Given the description of an element on the screen output the (x, y) to click on. 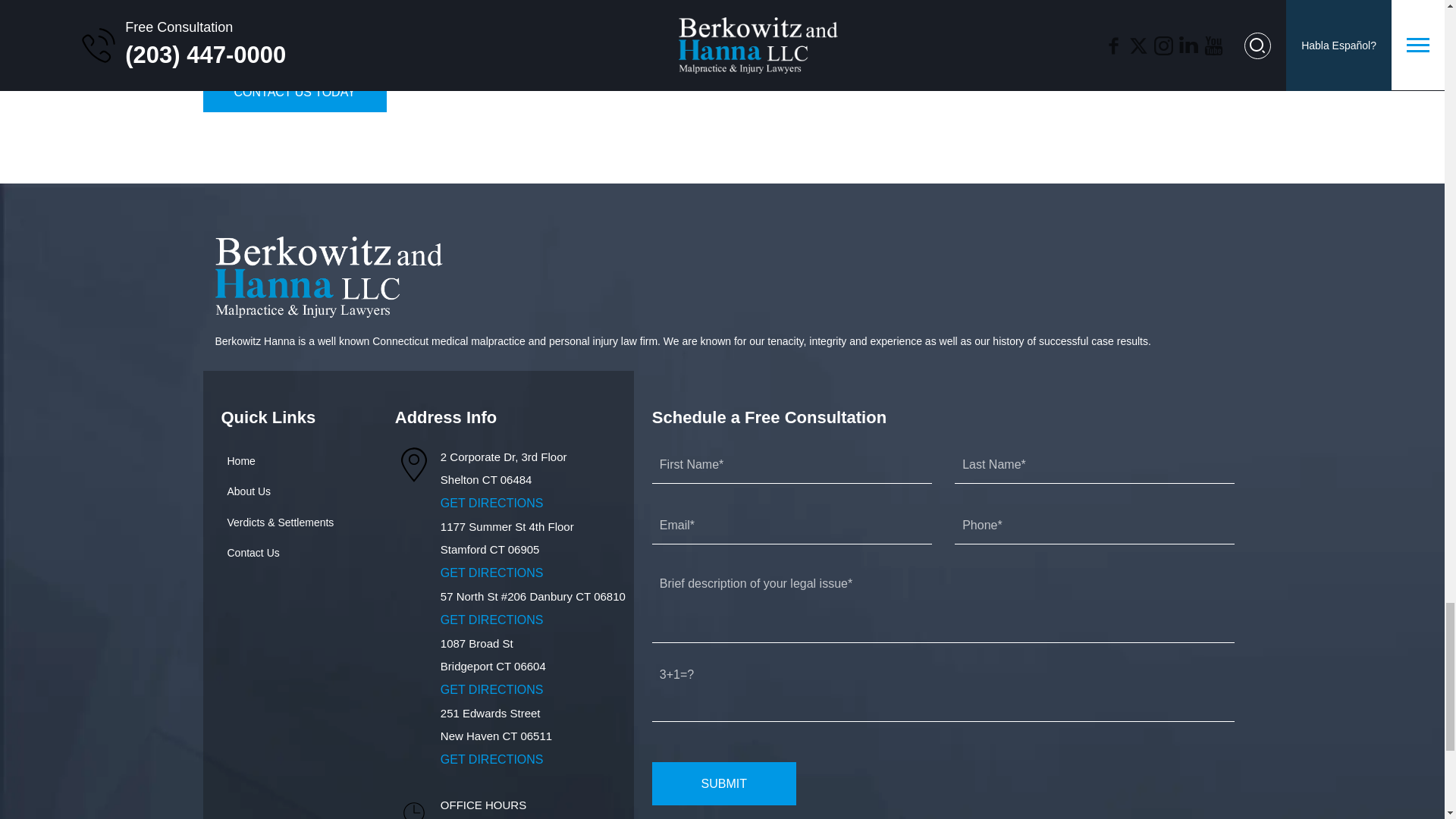
Submit (724, 783)
